Given the description of an element on the screen output the (x, y) to click on. 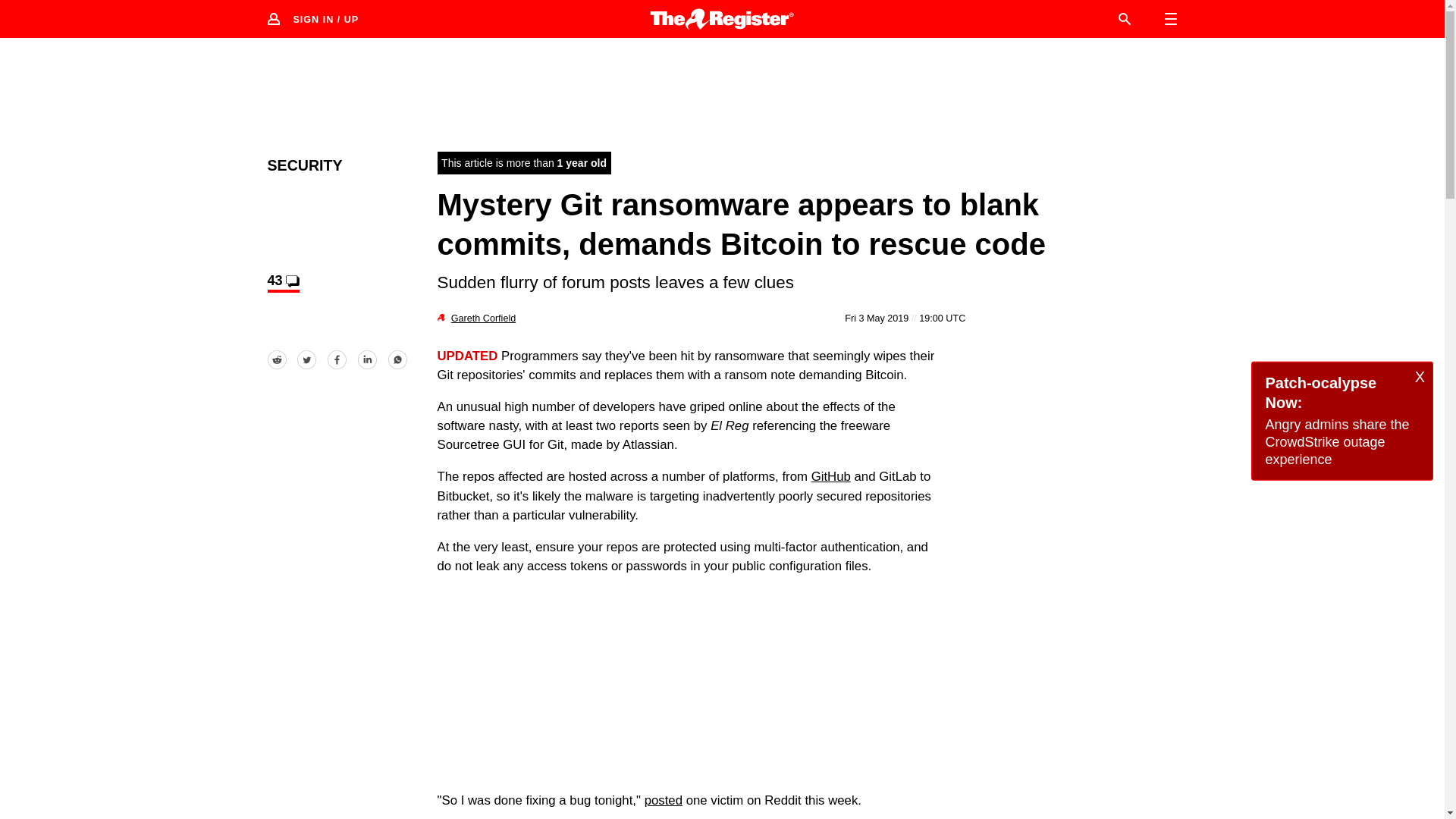
View comments on this article (282, 282)
Read more by this author (483, 318)
